Given the description of an element on the screen output the (x, y) to click on. 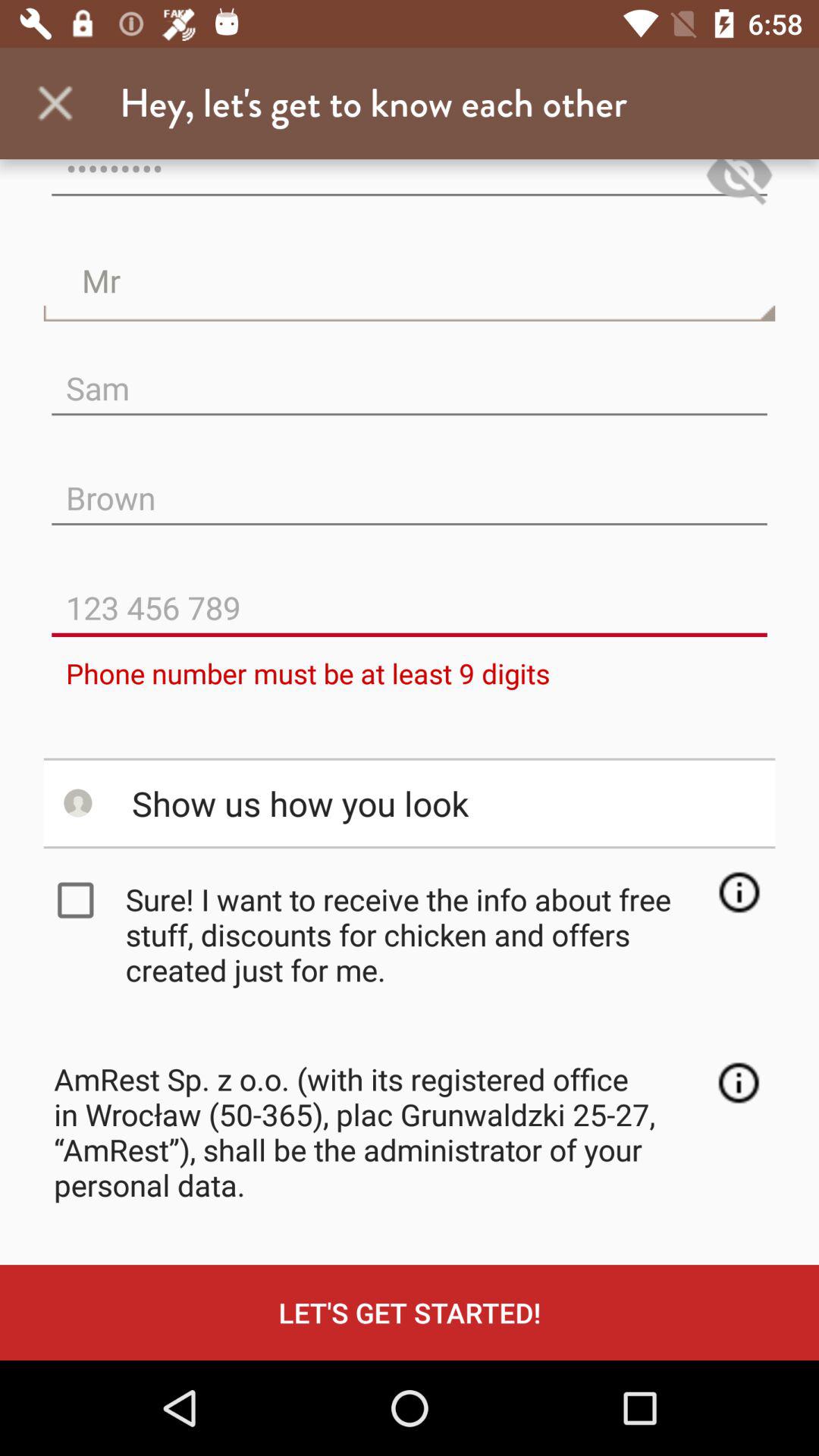
choose item to the left of hey let s (55, 103)
